Given the description of an element on the screen output the (x, y) to click on. 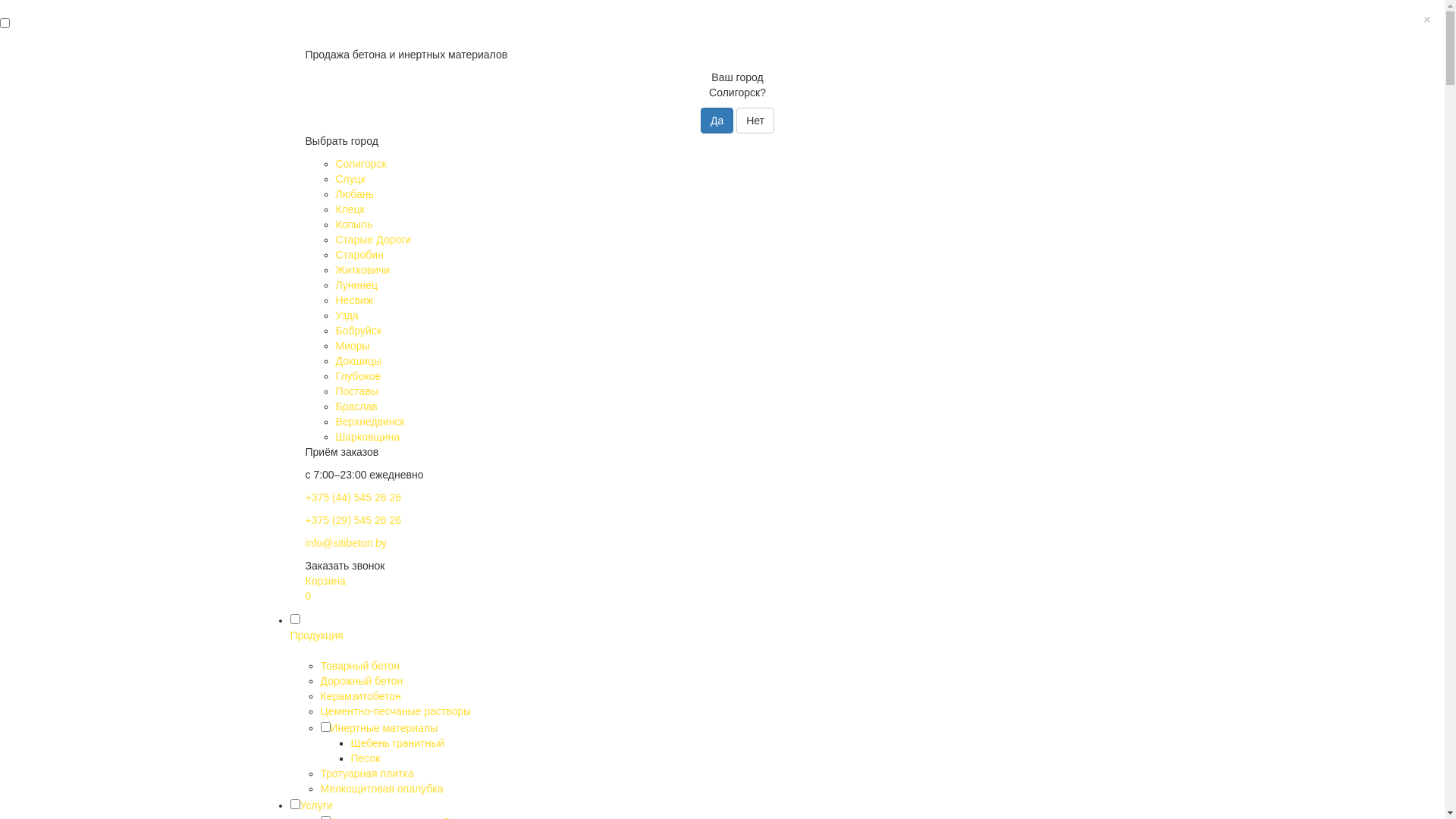
info@sitibeton.by Element type: text (345, 542)
+375 (29) 545 26 26 Element type: text (352, 520)
+375 (44) 545 26 26 Element type: text (352, 497)
